Given the description of an element on the screen output the (x, y) to click on. 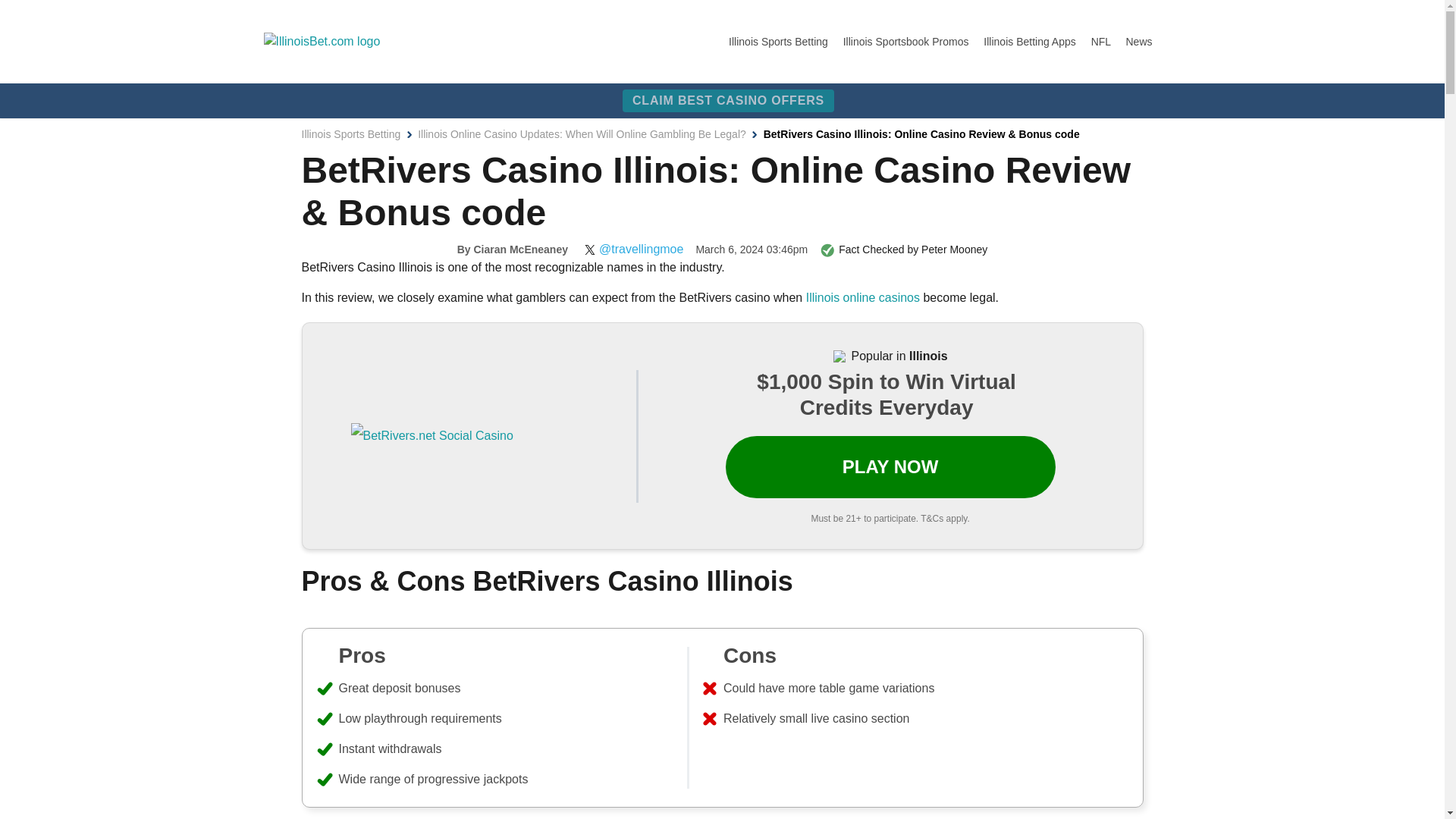
Illinois Sports Betting (351, 133)
IllinoisBet.com logo (321, 41)
BetRivers.net Social Casino (431, 435)
Illinois Sports Betting (780, 41)
Illinois Betting Apps (1031, 41)
Illinois Sportsbook Promos (907, 41)
